Given the description of an element on the screen output the (x, y) to click on. 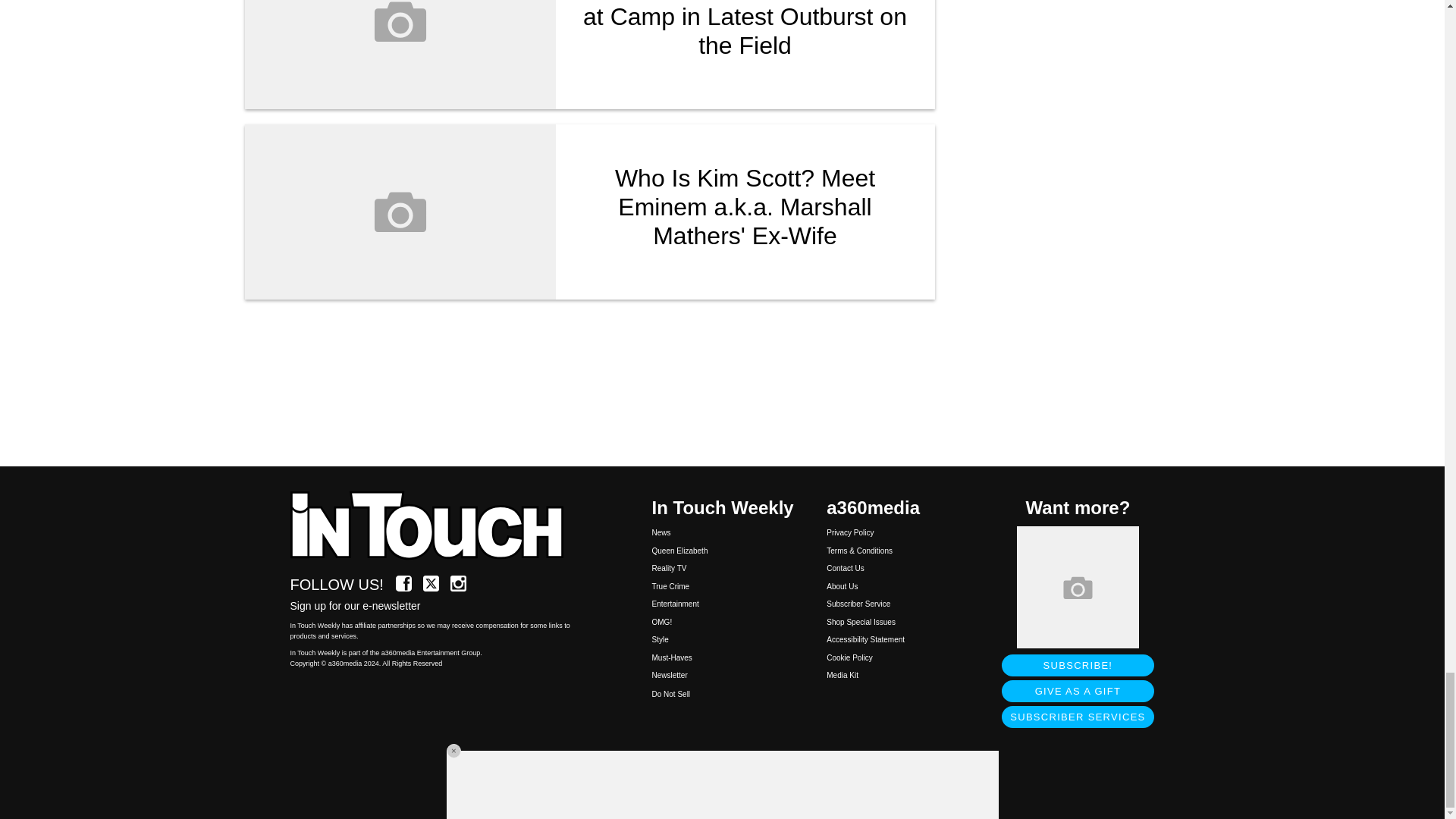
Home (434, 526)
